Given the description of an element on the screen output the (x, y) to click on. 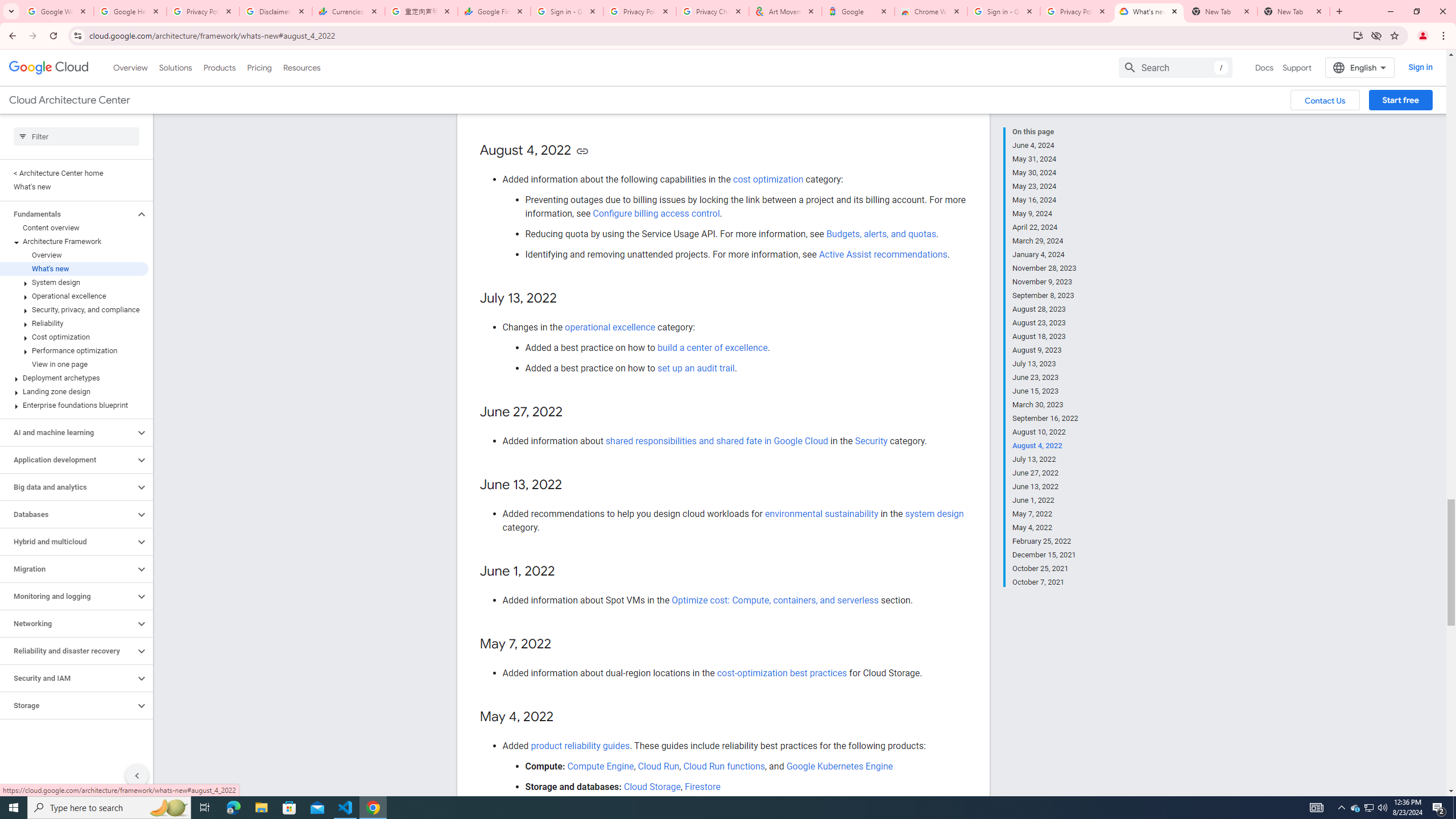
Type to filter (76, 136)
Chrome Web Store - Color themes by Chrome (930, 11)
operational excellence (609, 326)
October 25, 2021 (1044, 568)
November 9, 2023 (1044, 282)
Docs, selected (1264, 67)
cost-optimization best practices (781, 672)
product reliability guides (579, 745)
Monitoring and logging (67, 596)
July 13, 2023 (1044, 364)
Deployment archetypes (74, 377)
cost optimization (767, 179)
